Given the description of an element on the screen output the (x, y) to click on. 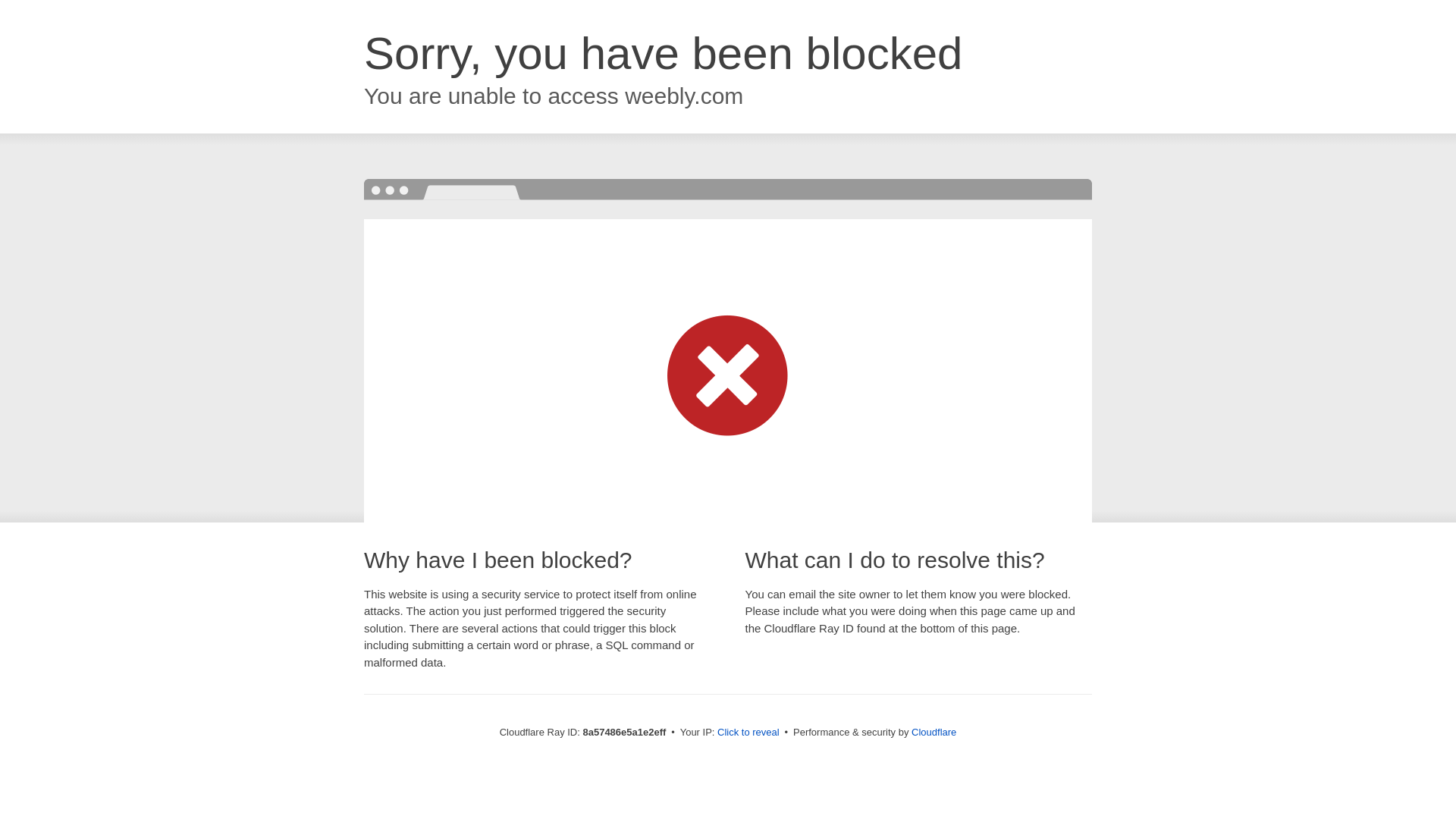
Cloudflare (933, 731)
Click to reveal (747, 732)
